Given the description of an element on the screen output the (x, y) to click on. 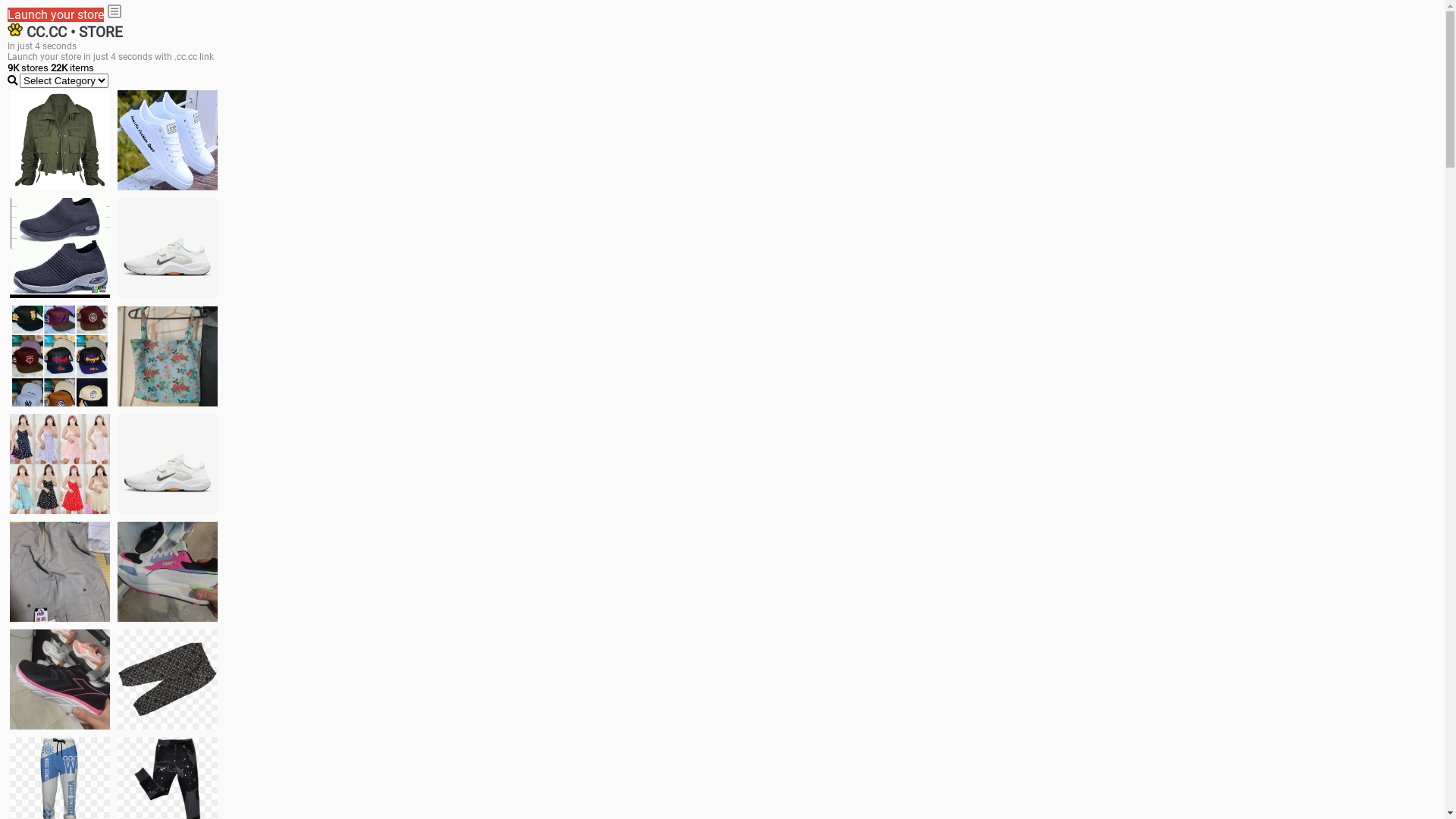
Short pant Element type: hover (167, 679)
white shoes Element type: hover (167, 140)
shoes for boys Element type: hover (59, 247)
Launch your store Element type: text (55, 14)
Ukay cloth Element type: hover (167, 356)
Zapatillas Element type: hover (59, 679)
Shoes for boys Element type: hover (167, 247)
Shoes Element type: hover (167, 464)
Things we need Element type: hover (59, 355)
Dress/square nect top Element type: hover (59, 464)
Zapatillas pumas Element type: hover (167, 571)
jacket Element type: hover (59, 140)
